Given the description of an element on the screen output the (x, y) to click on. 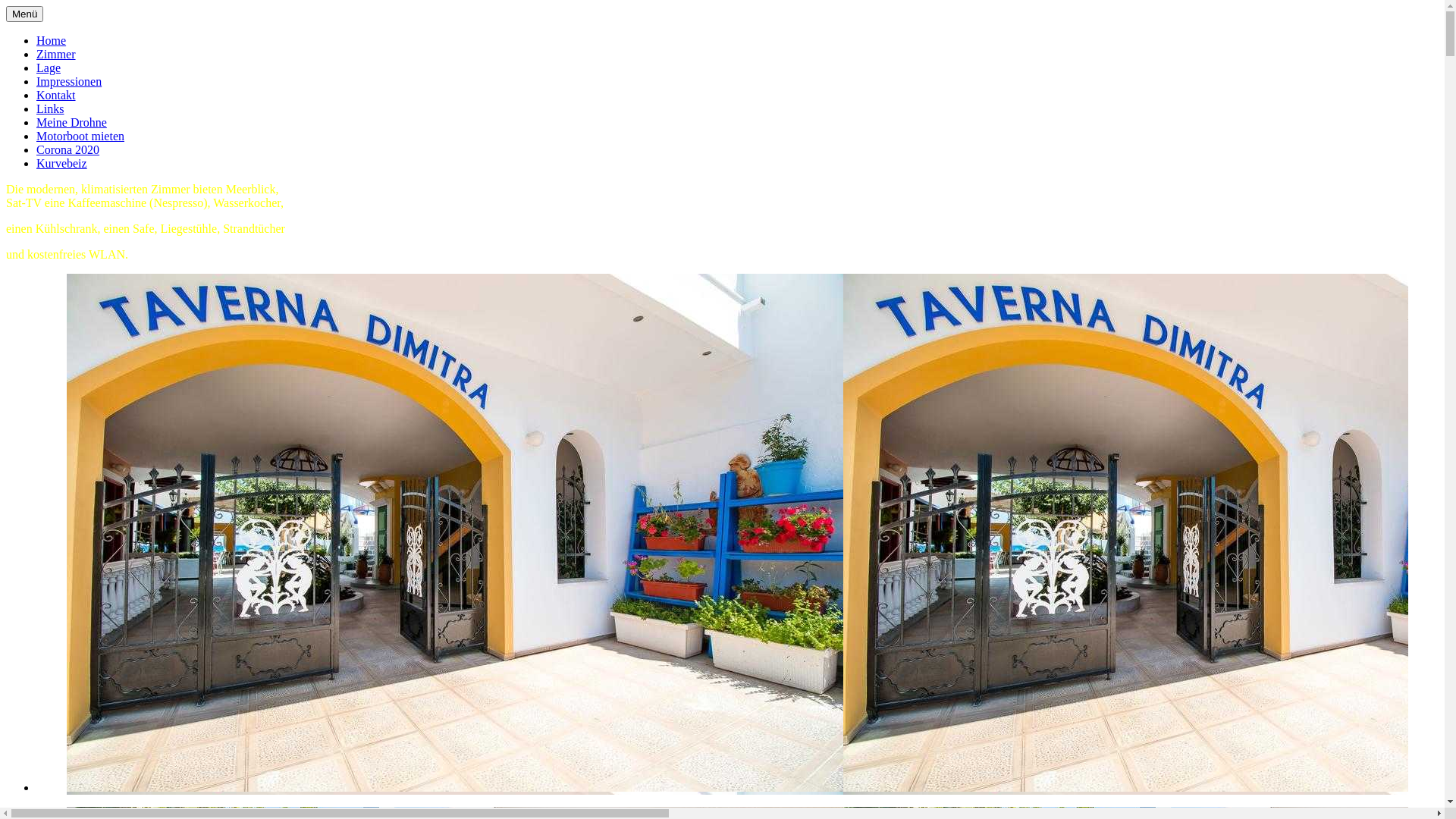
Links Element type: text (49, 108)
Corona 2020 Element type: text (67, 149)
Meine Drohne Element type: text (71, 122)
Zimmer Element type: text (55, 53)
Impressionen Element type: text (68, 81)
Home Element type: text (50, 40)
Kurvebeiz Element type: text (61, 162)
Motorboot mieten Element type: text (80, 135)
Lage Element type: text (48, 67)
Kontakt Element type: text (55, 94)
